Given the description of an element on the screen output the (x, y) to click on. 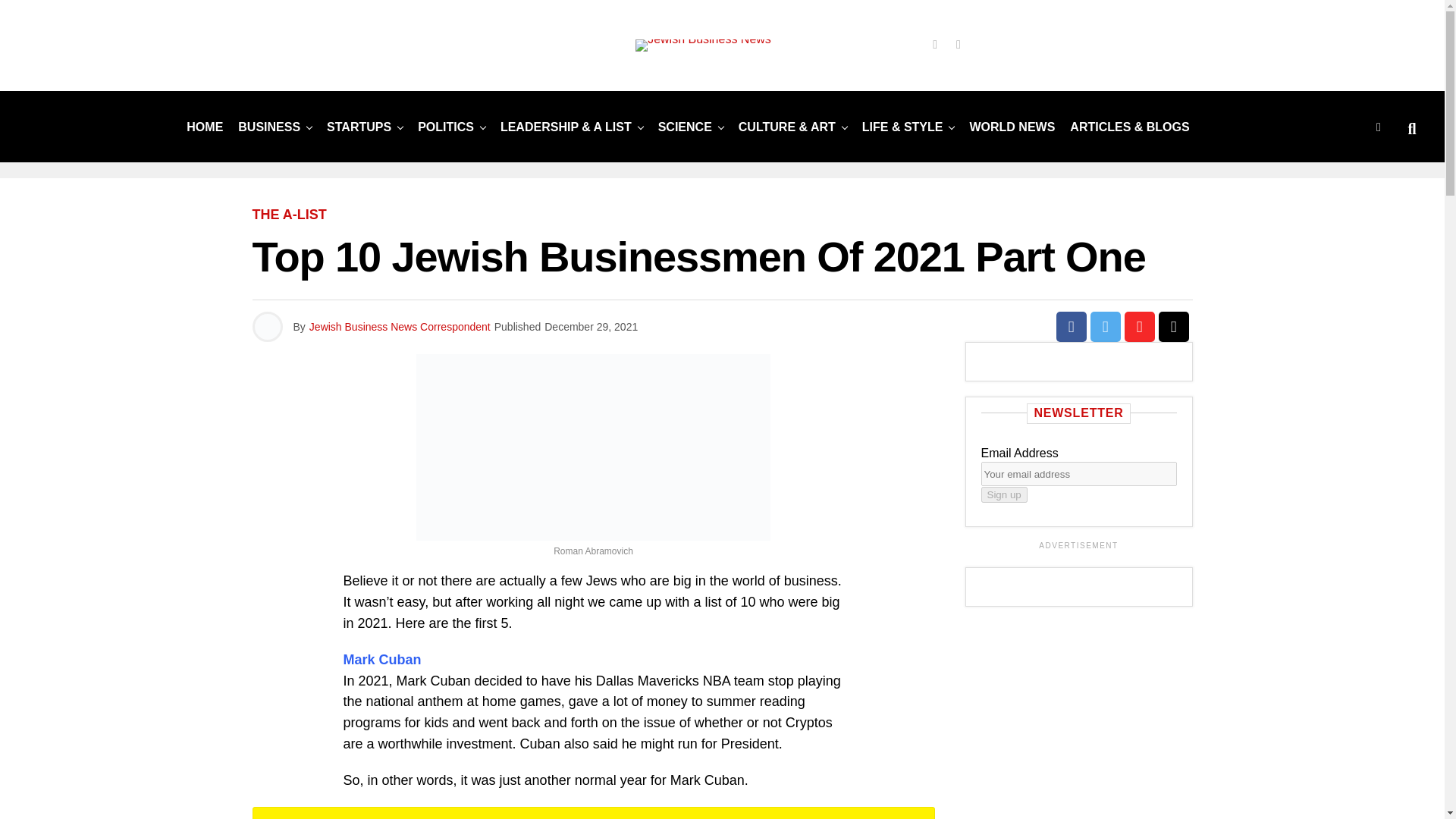
Share on Flipboard (1139, 327)
Sign up (1004, 494)
Share on Facebook (1070, 327)
Tweet This Post (1105, 327)
Posts by Jewish Business News Correspondent (399, 326)
New Research (684, 126)
